Given the description of an element on the screen output the (x, y) to click on. 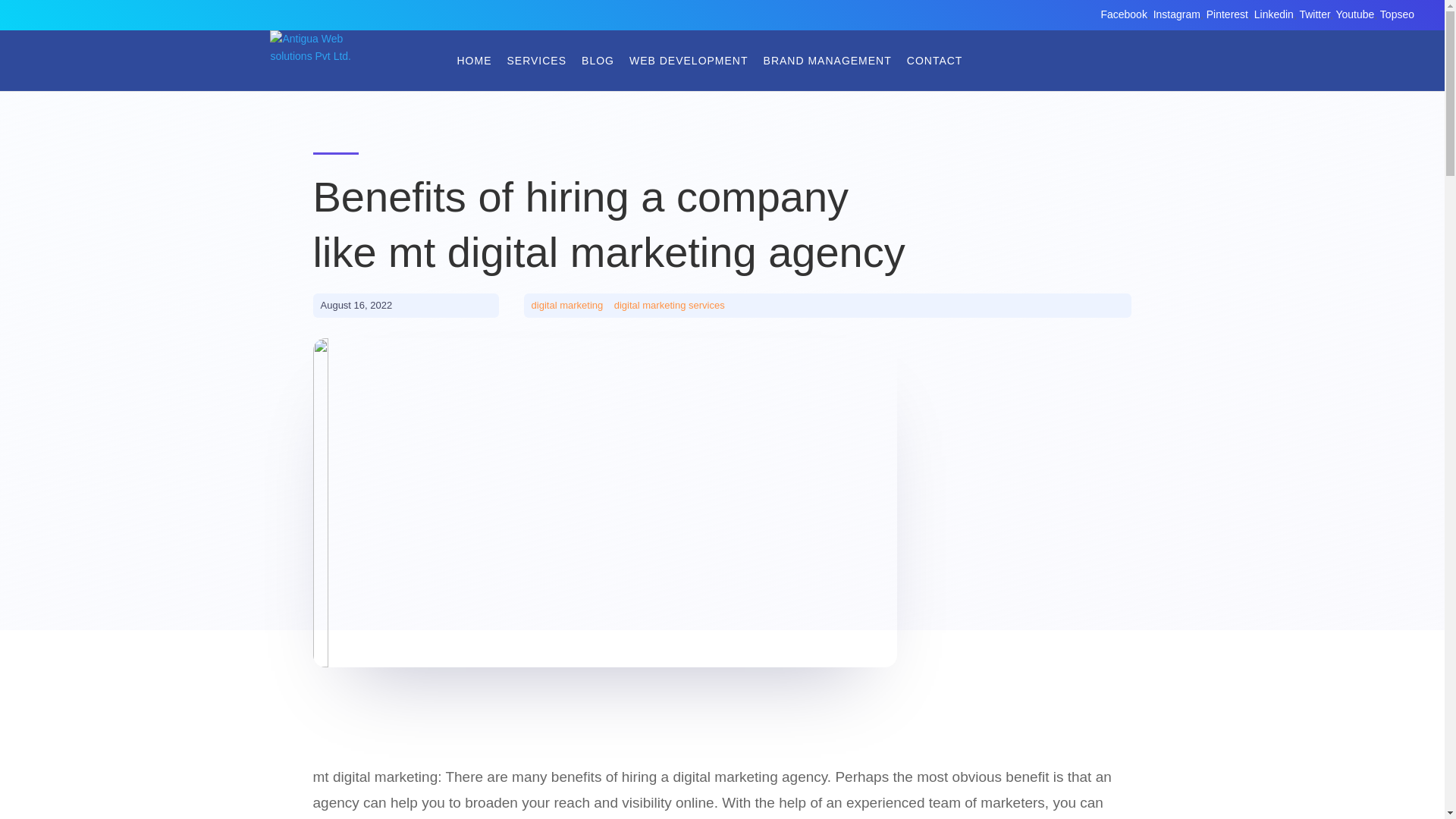
Twitter (1313, 14)
Pinterest (1227, 14)
Instagram (1176, 14)
HOME (473, 60)
Topseo (1396, 14)
WEB DEVELOPMENT (688, 60)
SERVICES (536, 60)
Facebook (1123, 14)
Youtube (1354, 14)
BLOG (597, 60)
